Given the description of an element on the screen output the (x, y) to click on. 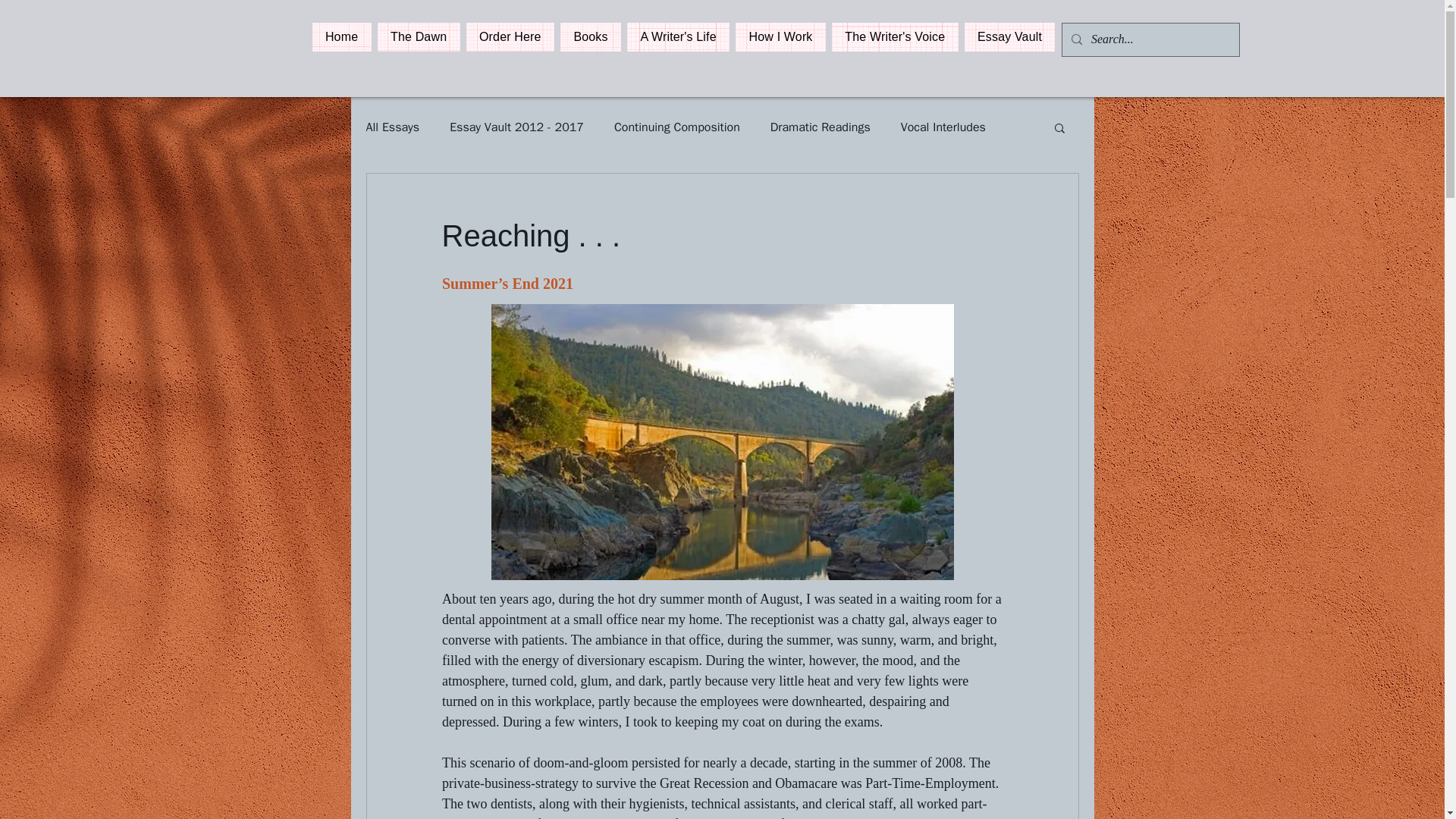
Order Here (509, 36)
Home (342, 36)
The Dawn (418, 36)
